Given the description of an element on the screen output the (x, y) to click on. 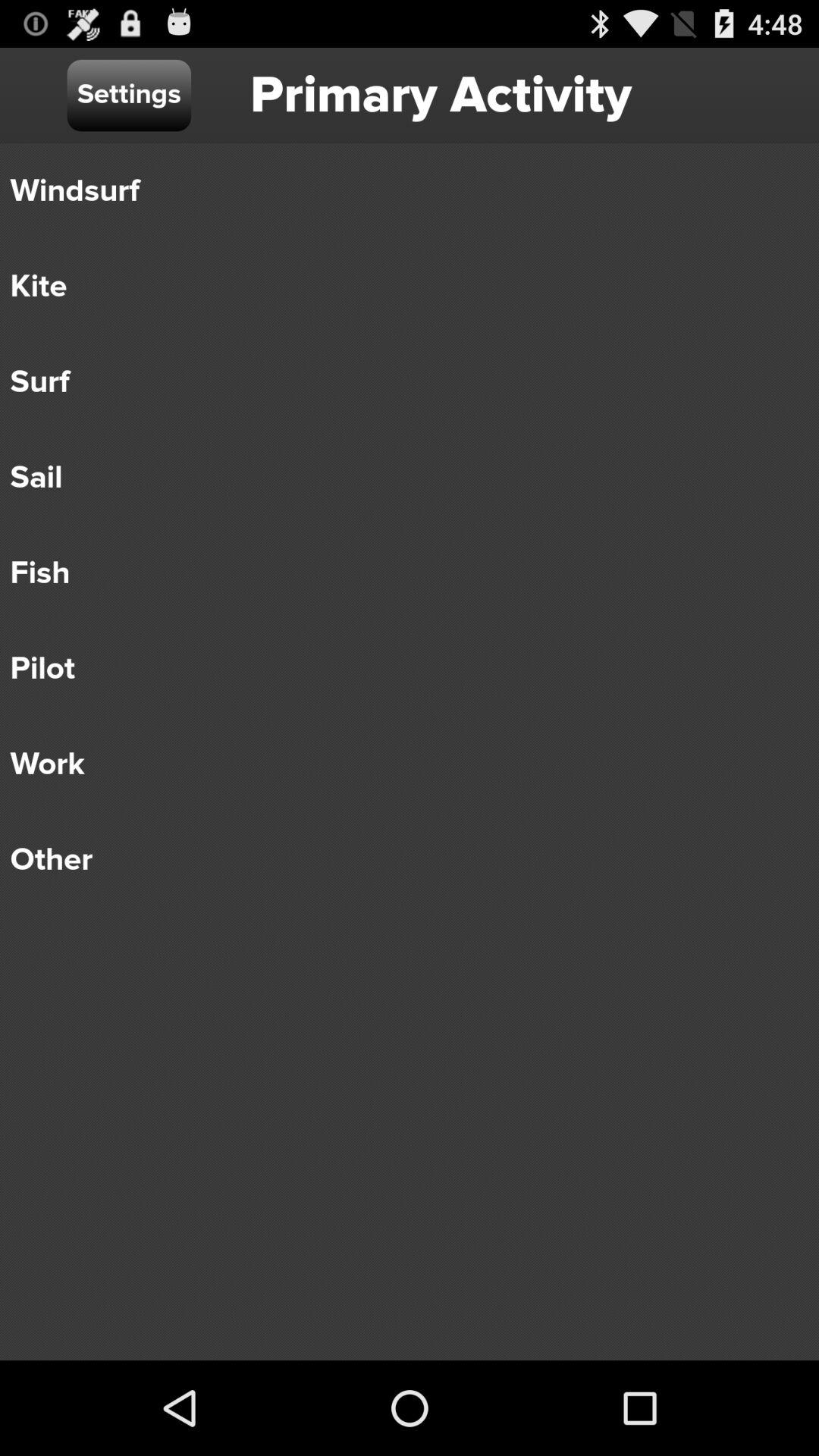
choose the item below the fish icon (399, 668)
